Given the description of an element on the screen output the (x, y) to click on. 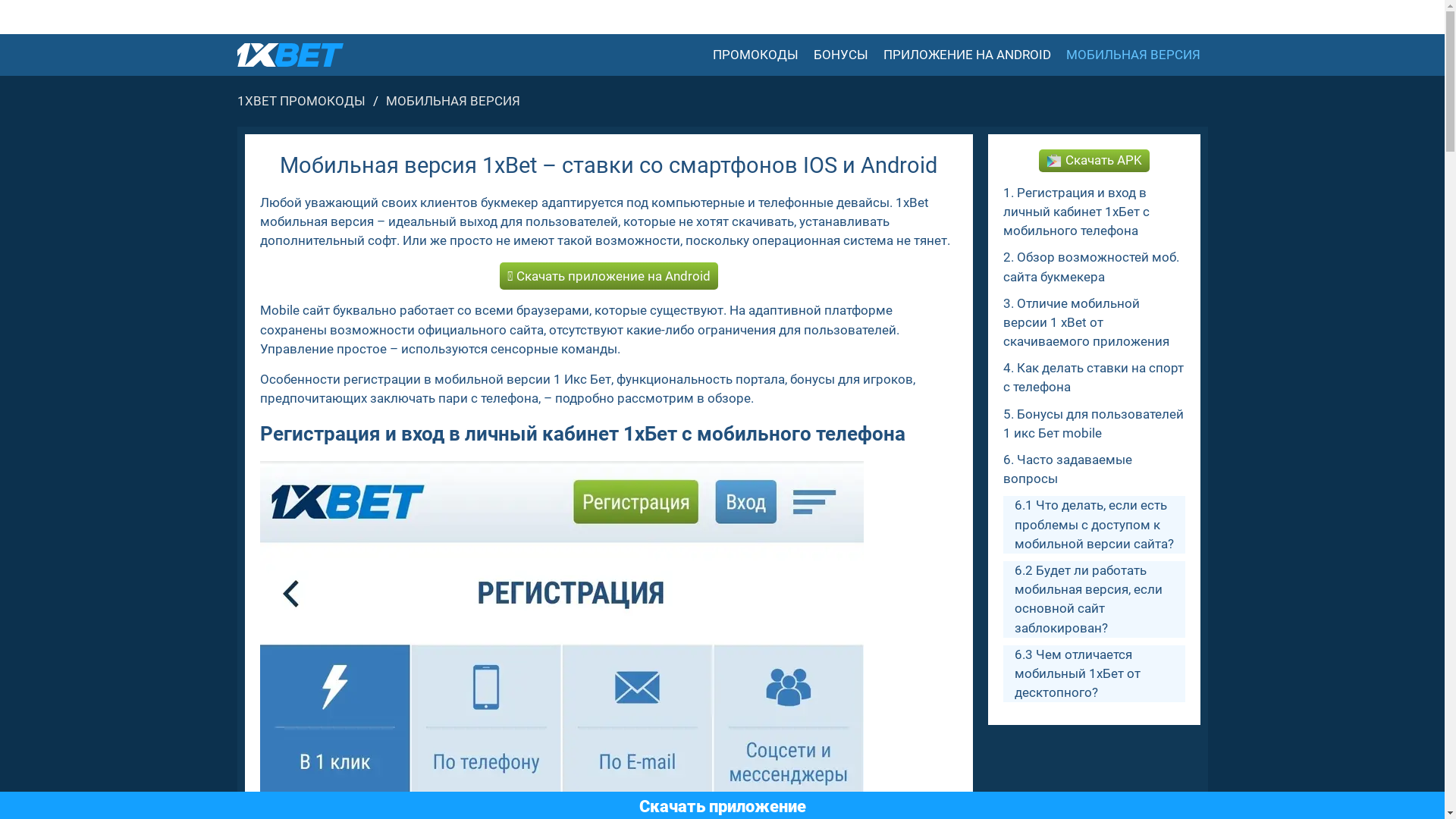
1XBet Element type: hover (289, 54)
